Given the description of an element on the screen output the (x, y) to click on. 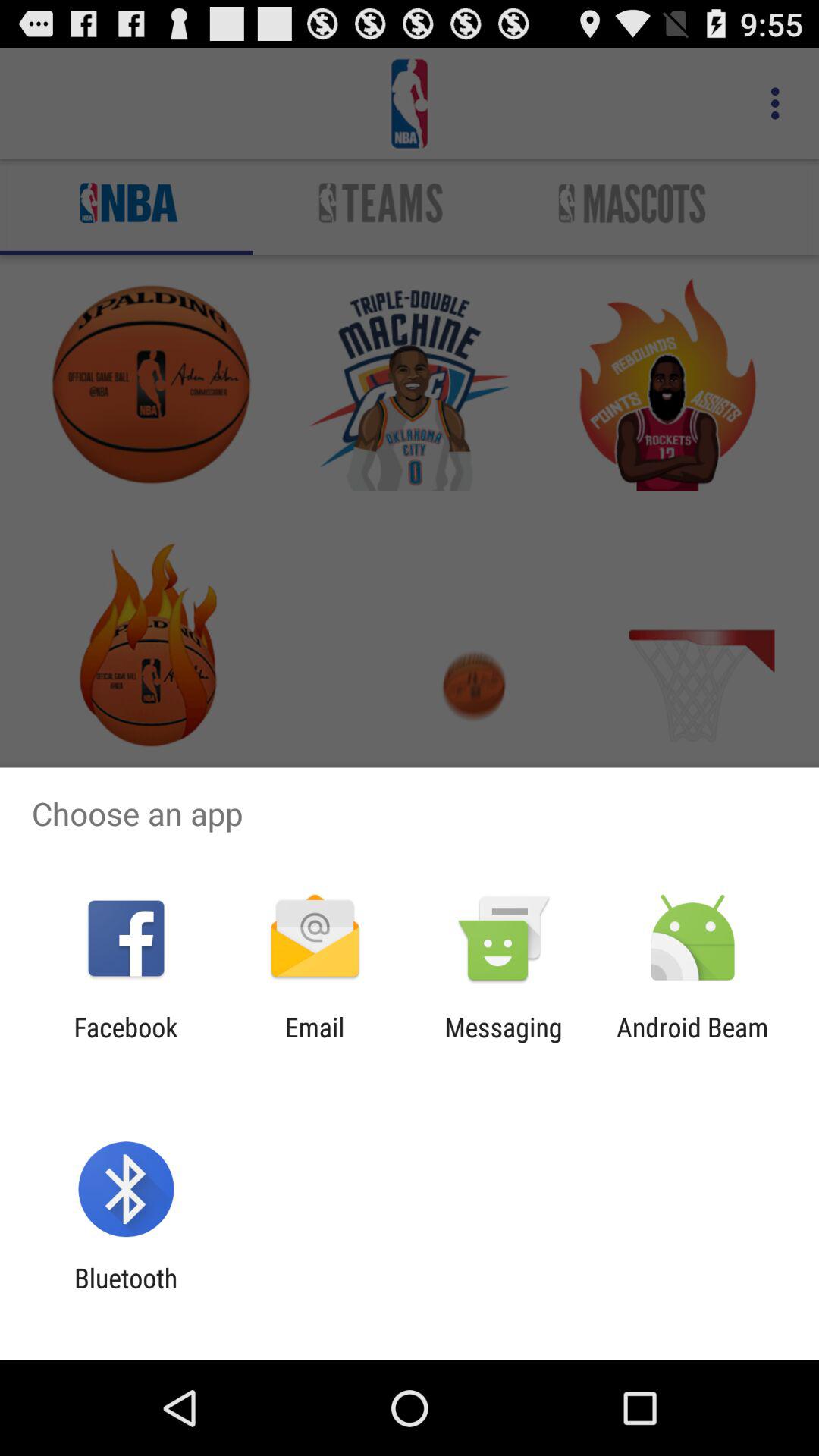
click icon next to the email app (125, 1042)
